Given the description of an element on the screen output the (x, y) to click on. 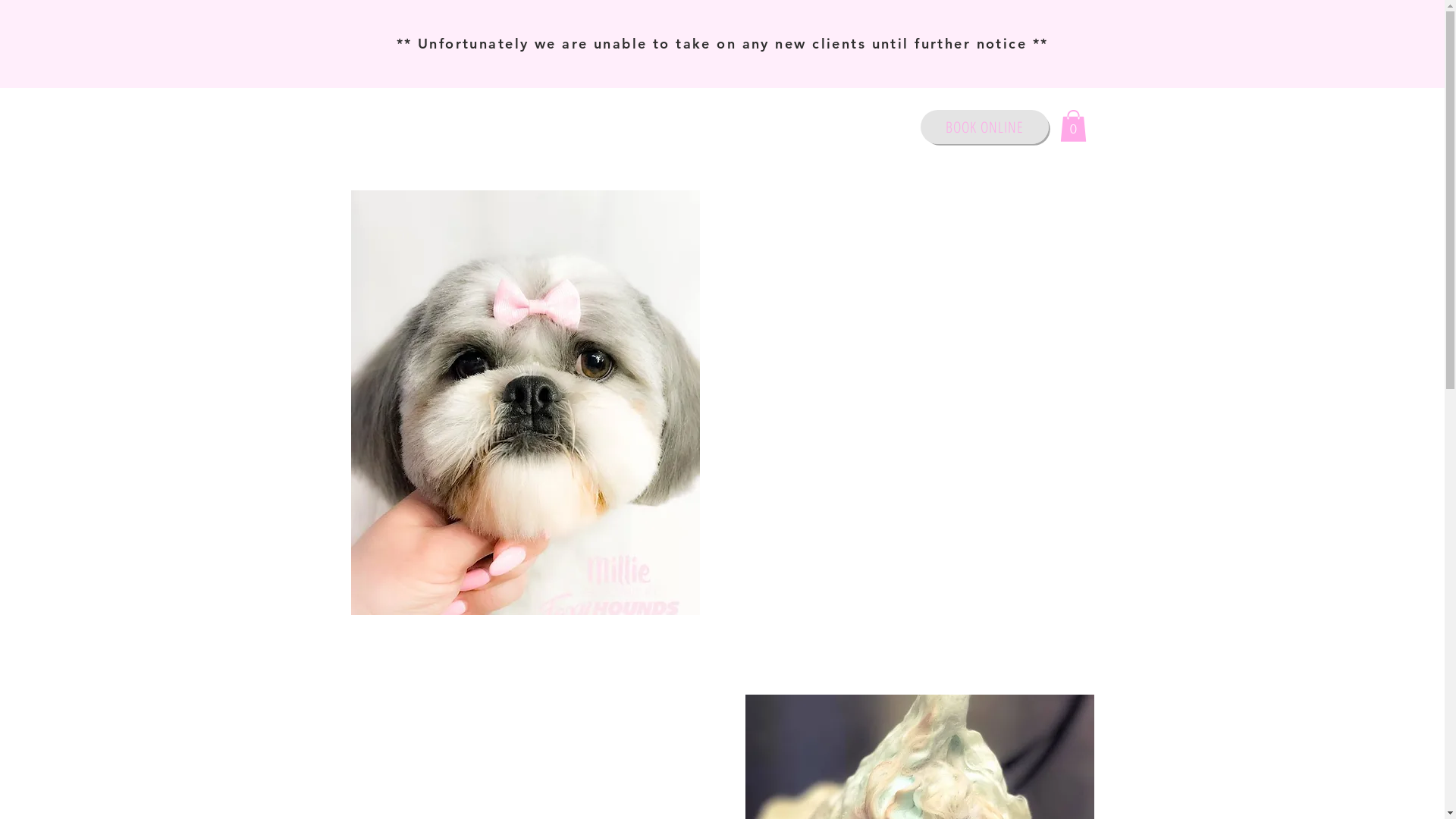
BOOK ONLINE Element type: text (984, 126)
0 Element type: text (1073, 125)
